Given the description of an element on the screen output the (x, y) to click on. 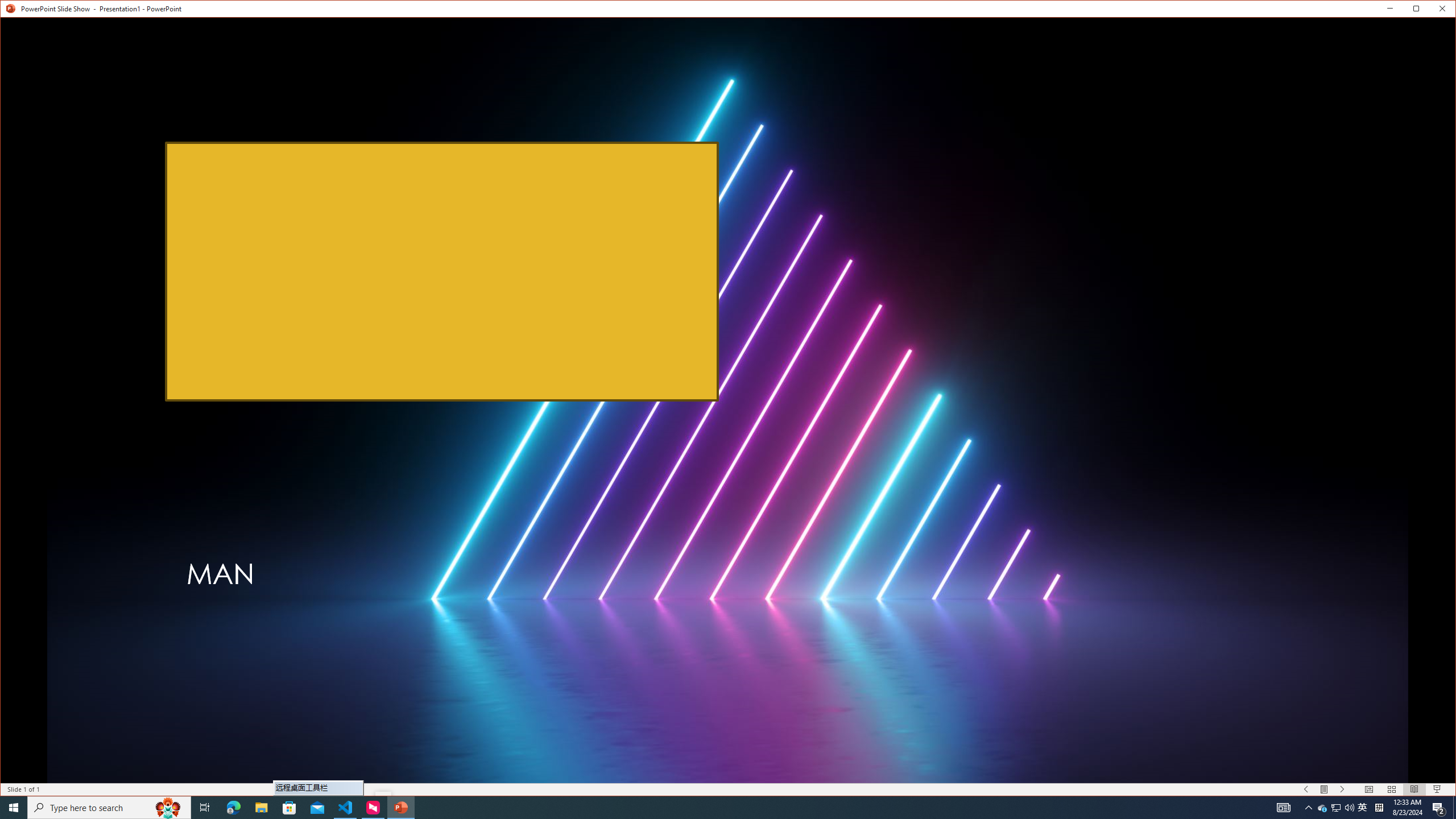
Slide Show Previous On (1306, 789)
